Given the description of an element on the screen output the (x, y) to click on. 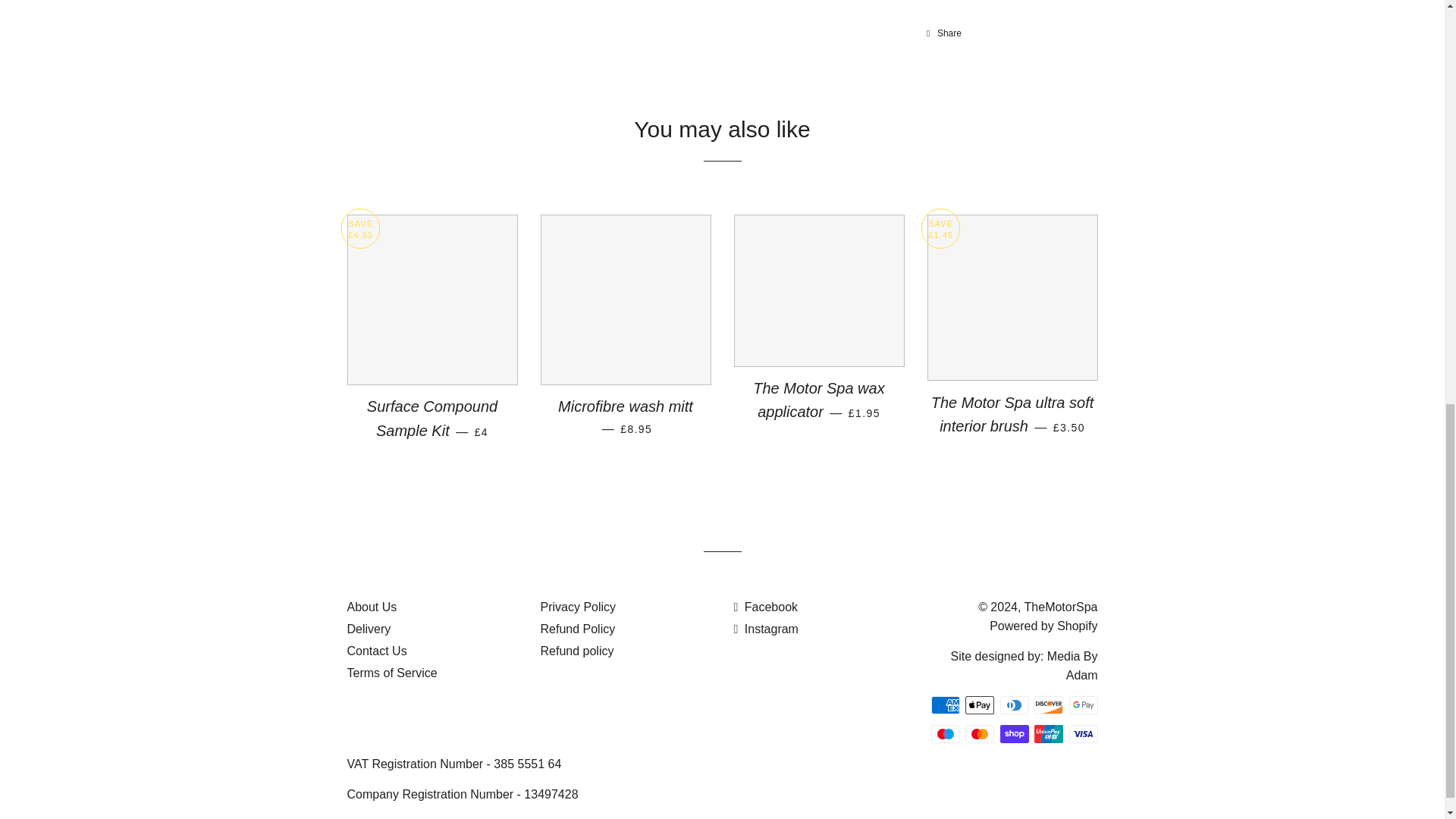
Diners Club (1012, 705)
TheMotorSpa on Facebook (765, 606)
Google Pay (1082, 705)
TheMotorSpa on Instagram (765, 628)
Mastercard (979, 733)
Union Pay (1047, 733)
American Express (945, 705)
Share on Facebook (943, 33)
Discover (1047, 705)
Shop Pay (1012, 733)
Visa (1082, 733)
Apple Pay (979, 705)
Maestro (945, 733)
Media By Adam (1071, 665)
